Given the description of an element on the screen output the (x, y) to click on. 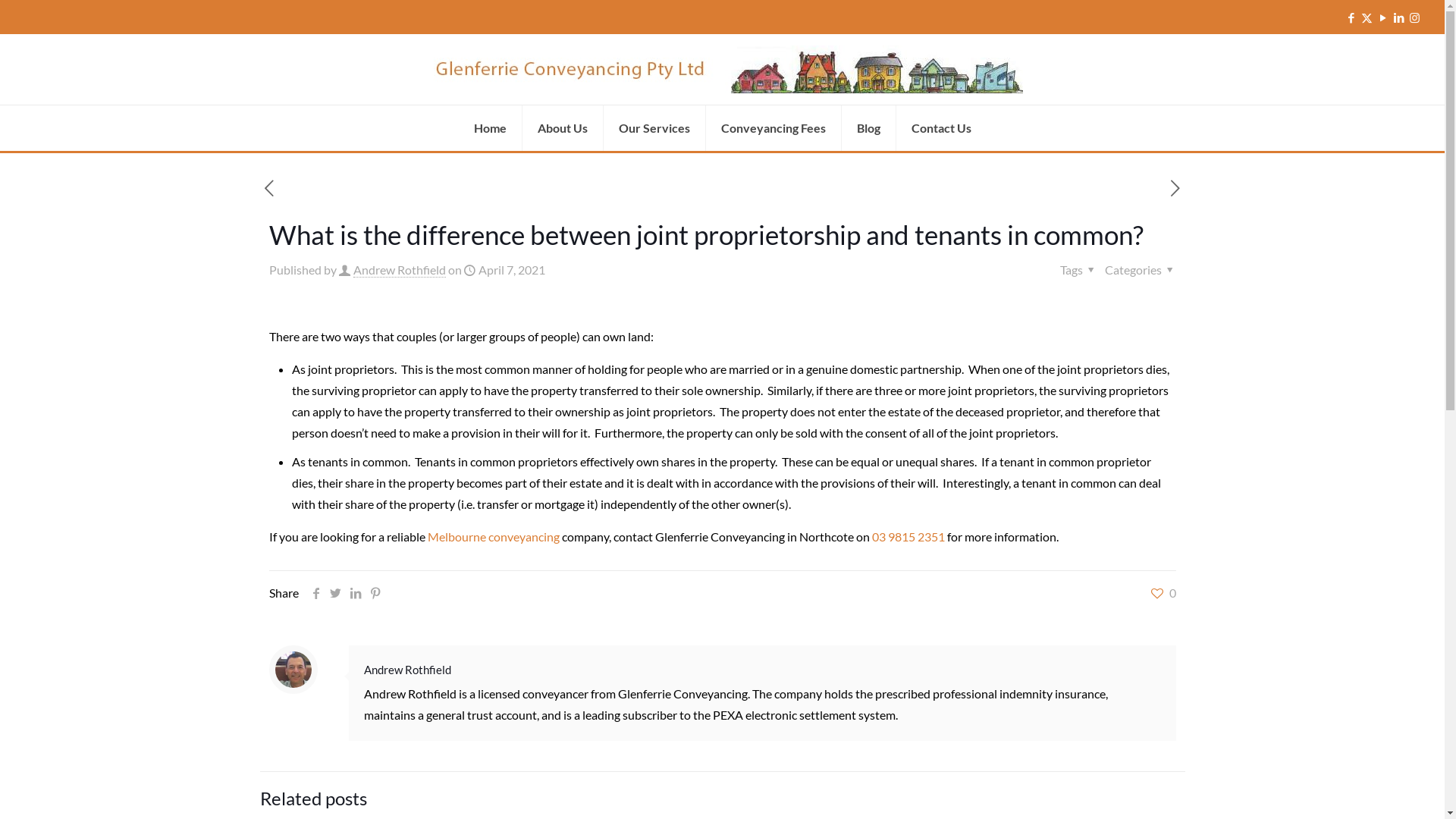
Facebook Element type: hover (1350, 17)
Andrew Rothfield Element type: text (407, 669)
Contact Us Element type: text (941, 127)
03 9815 2351 Element type: text (908, 536)
Blog Element type: text (868, 127)
Melbourne conveyancing Element type: text (493, 536)
Our Services Element type: text (654, 127)
LinkedIn Element type: hover (1398, 17)
0 Element type: text (1163, 592)
Conveyancing Fees Element type: text (772, 127)
About Us Element type: text (561, 127)
X (Twitter) Element type: hover (1366, 17)
Instagram Element type: hover (1414, 17)
Glenferrie Conveyancing Element type: hover (721, 69)
YouTube Element type: hover (1382, 17)
Andrew Rothfield Element type: text (399, 269)
Home Element type: text (489, 127)
